Given the description of an element on the screen output the (x, y) to click on. 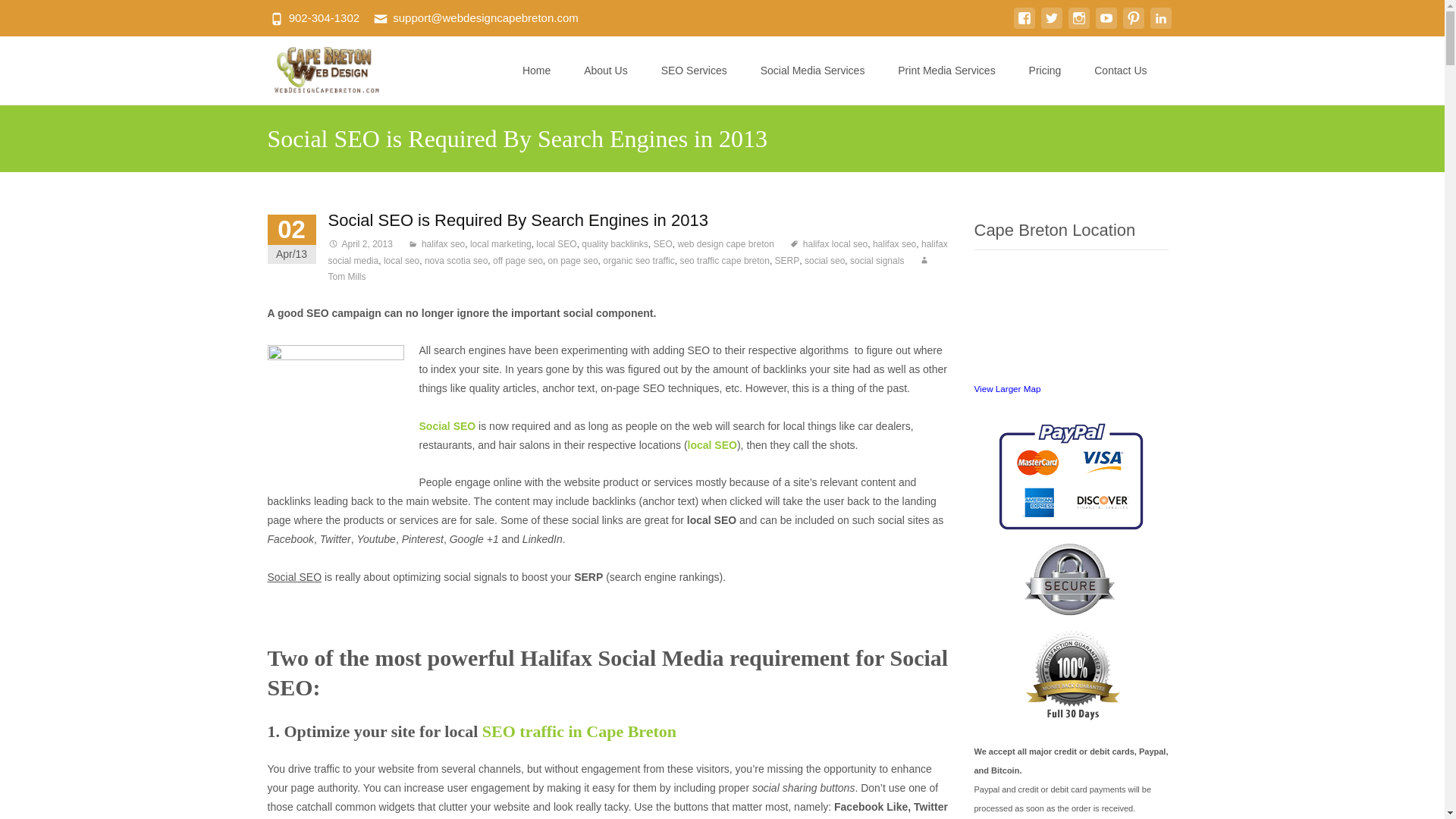
seo traffic cape breton (724, 260)
social seo (824, 260)
SEO Services (693, 70)
halifax local seo (828, 244)
Social SEO (447, 426)
nova scotia seo (456, 260)
youtube (1105, 25)
local SEO (555, 244)
facebook (1023, 25)
April 2, 2013 (359, 244)
SEO traffic in Cape Breton (579, 731)
pinterest (1132, 25)
